Given the description of an element on the screen output the (x, y) to click on. 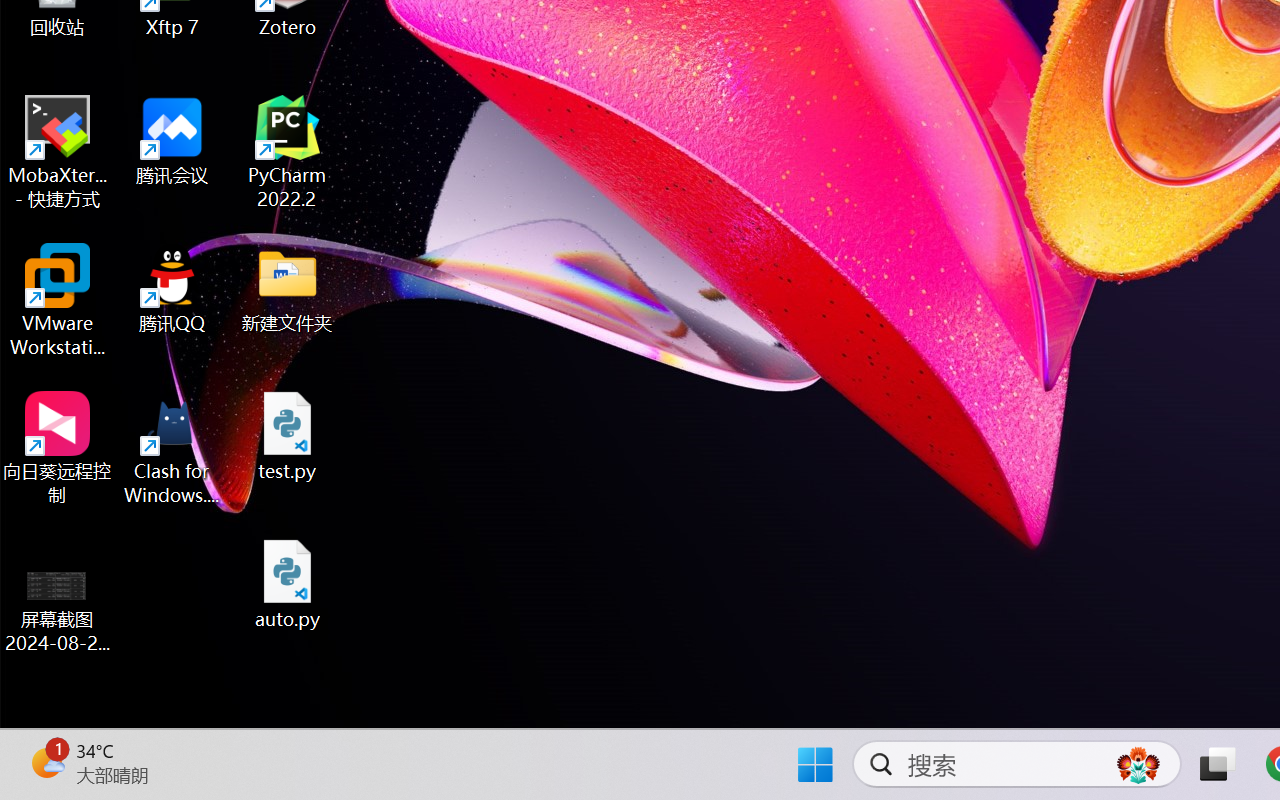
PyCharm 2022.2 (287, 152)
auto.py (287, 584)
